Given the description of an element on the screen output the (x, y) to click on. 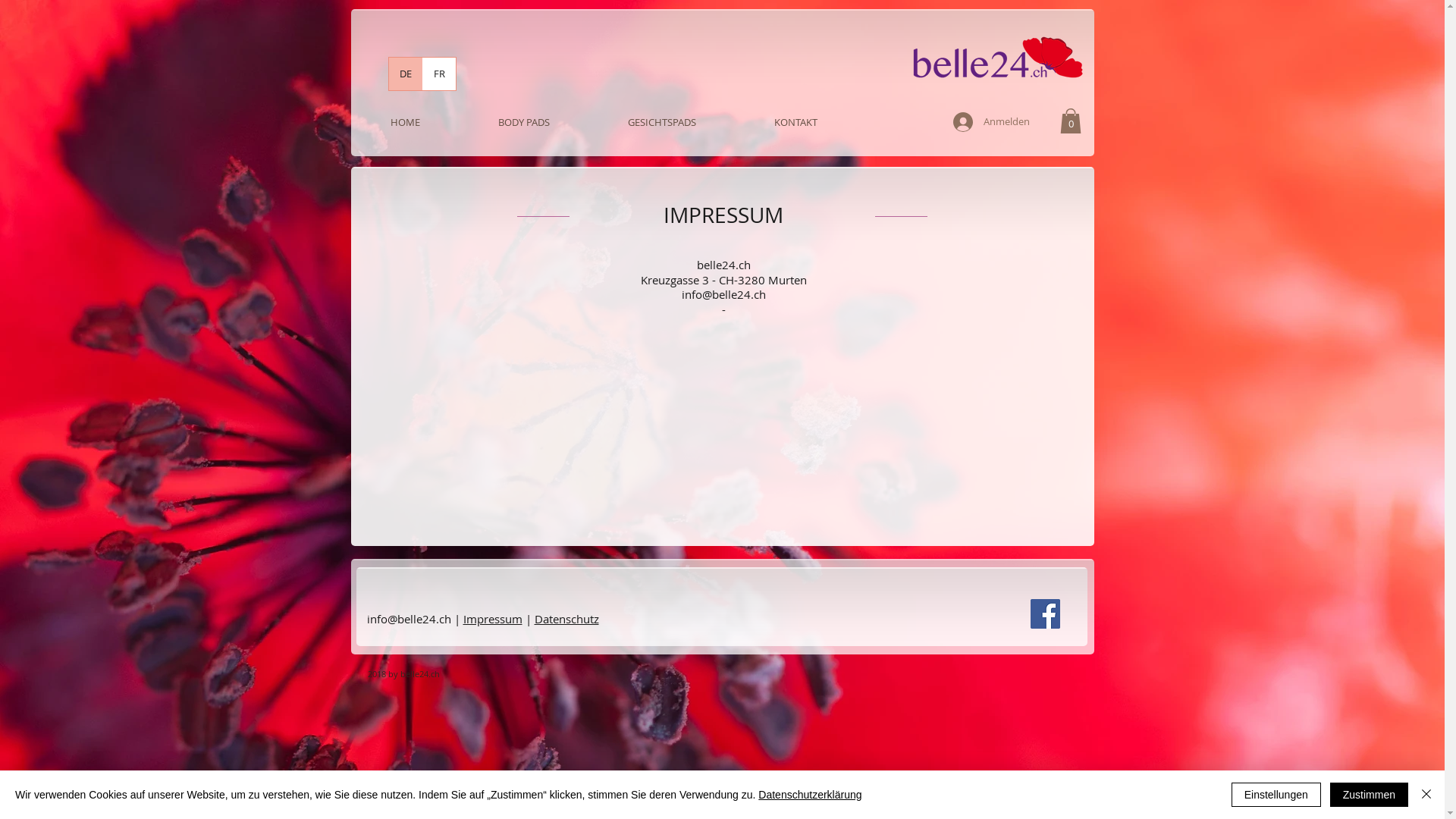
Impressum Element type: text (491, 618)
HOME Element type: text (405, 121)
BODY PADS Element type: text (524, 121)
FR Element type: text (438, 73)
Datenschutz Element type: text (565, 618)
info@belle24.ch Element type: text (409, 618)
info@belle24.ch Element type: text (723, 293)
0 Element type: text (1070, 120)
Anmelden Element type: text (990, 121)
Einstellungen Element type: text (1276, 794)
KONTAKT Element type: text (795, 121)
GESICHTSPADS Element type: text (661, 121)
Zustimmen Element type: text (1369, 794)
DE Element type: text (404, 73)
